Given the description of an element on the screen output the (x, y) to click on. 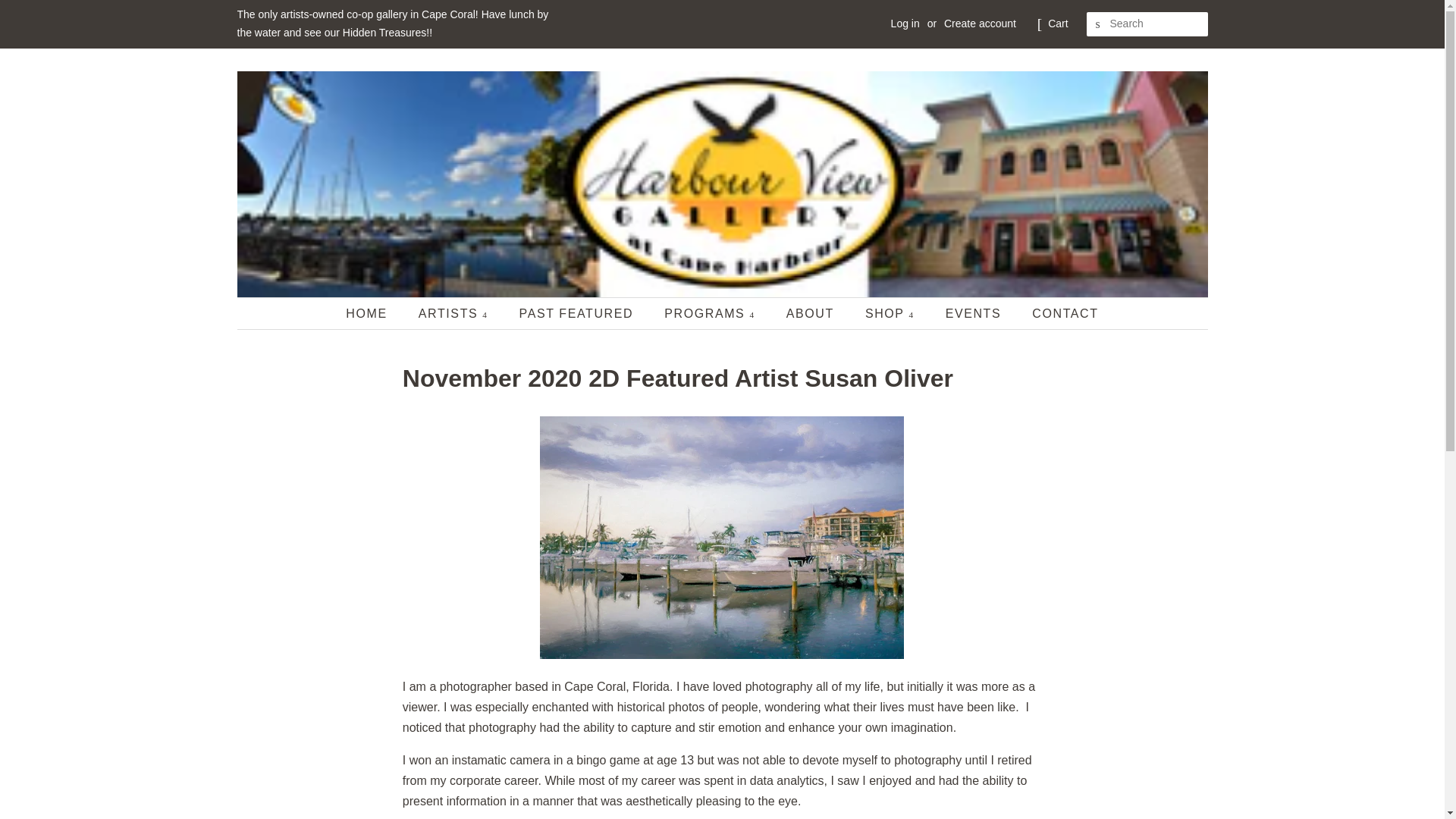
Log in (905, 23)
Create account (979, 23)
SEARCH (1097, 24)
Cart (1057, 24)
